Given the description of an element on the screen output the (x, y) to click on. 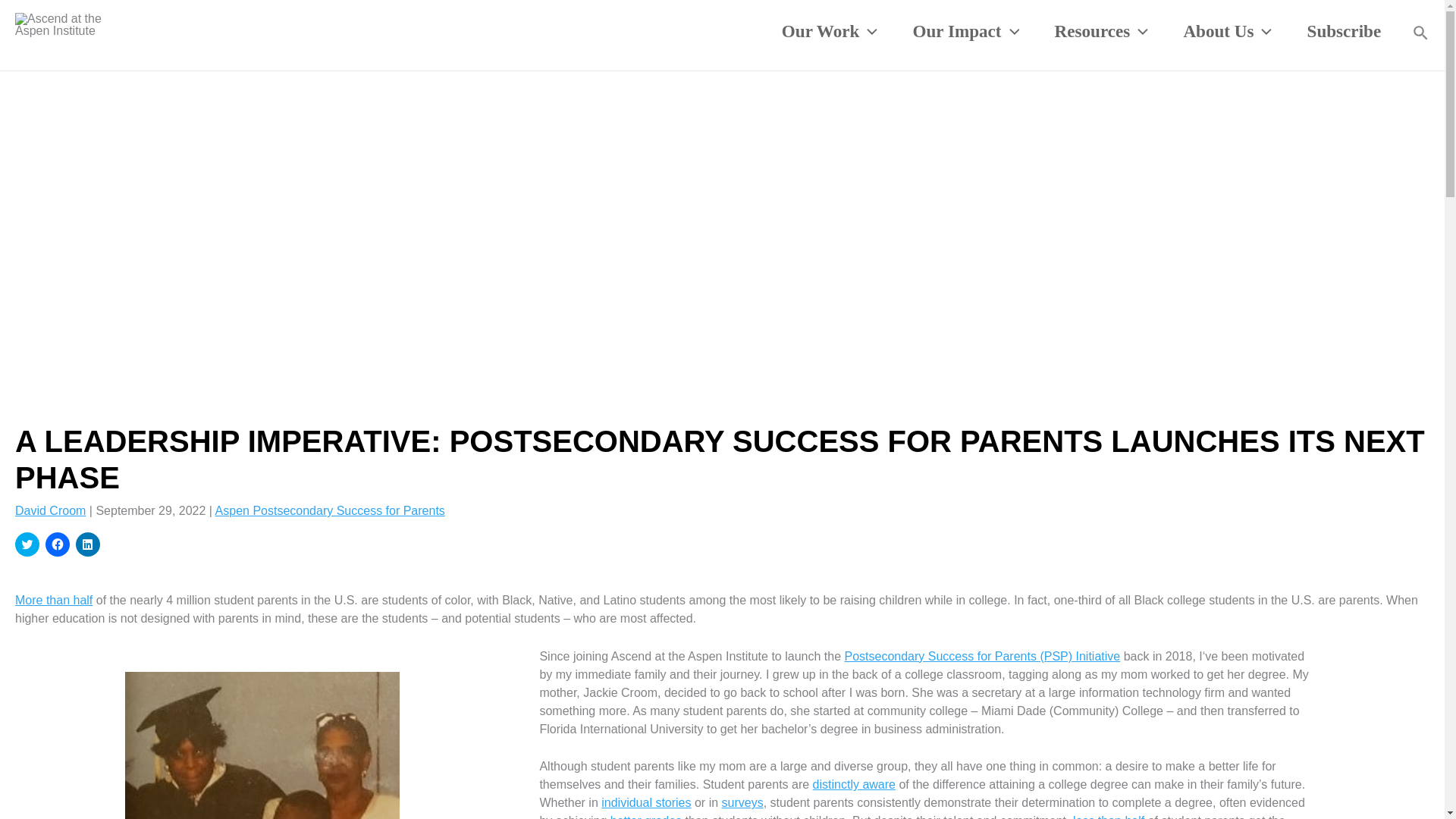
Click to share on LinkedIn (87, 544)
Resources (1101, 31)
About Us (1227, 31)
Our Work (829, 31)
Click to share on Facebook (57, 544)
Click to share on Twitter (26, 544)
Subscribe (1342, 31)
Our Impact (965, 31)
